Given the description of an element on the screen output the (x, y) to click on. 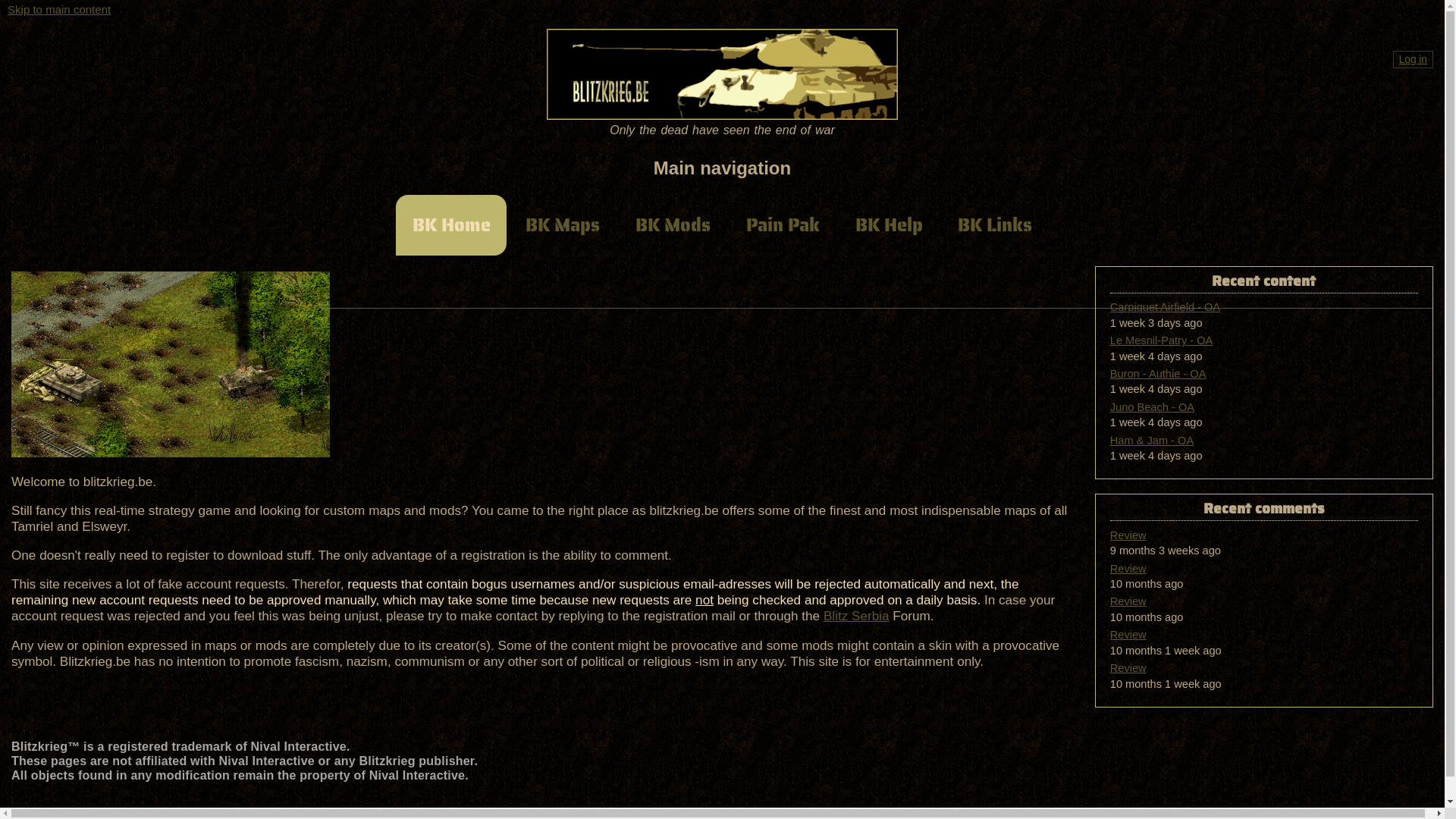
Blitz Serbia Element type: text (856, 615)
Le Mesnil-Patry - OA Element type: text (1161, 340)
Log in Element type: text (1412, 59)
Pain Pak Element type: text (782, 224)
Review Element type: text (1128, 601)
Review Element type: text (1128, 568)
Skip to main content Element type: text (59, 9)
BK Links Element type: text (994, 224)
BK Maps Element type: text (562, 224)
Buron - Authie - OA Element type: text (1158, 373)
BK Home Element type: text (450, 224)
Review Element type: text (1128, 668)
BK Help Element type: text (888, 224)
Carpiquet Airfield - OA Element type: text (1165, 307)
Review Element type: text (1128, 634)
BK Mods Element type: text (673, 224)
Ham & Jam - OA Element type: text (1151, 440)
Juno Beach - OA Element type: text (1152, 407)
Review Element type: text (1128, 535)
